Given the description of an element on the screen output the (x, y) to click on. 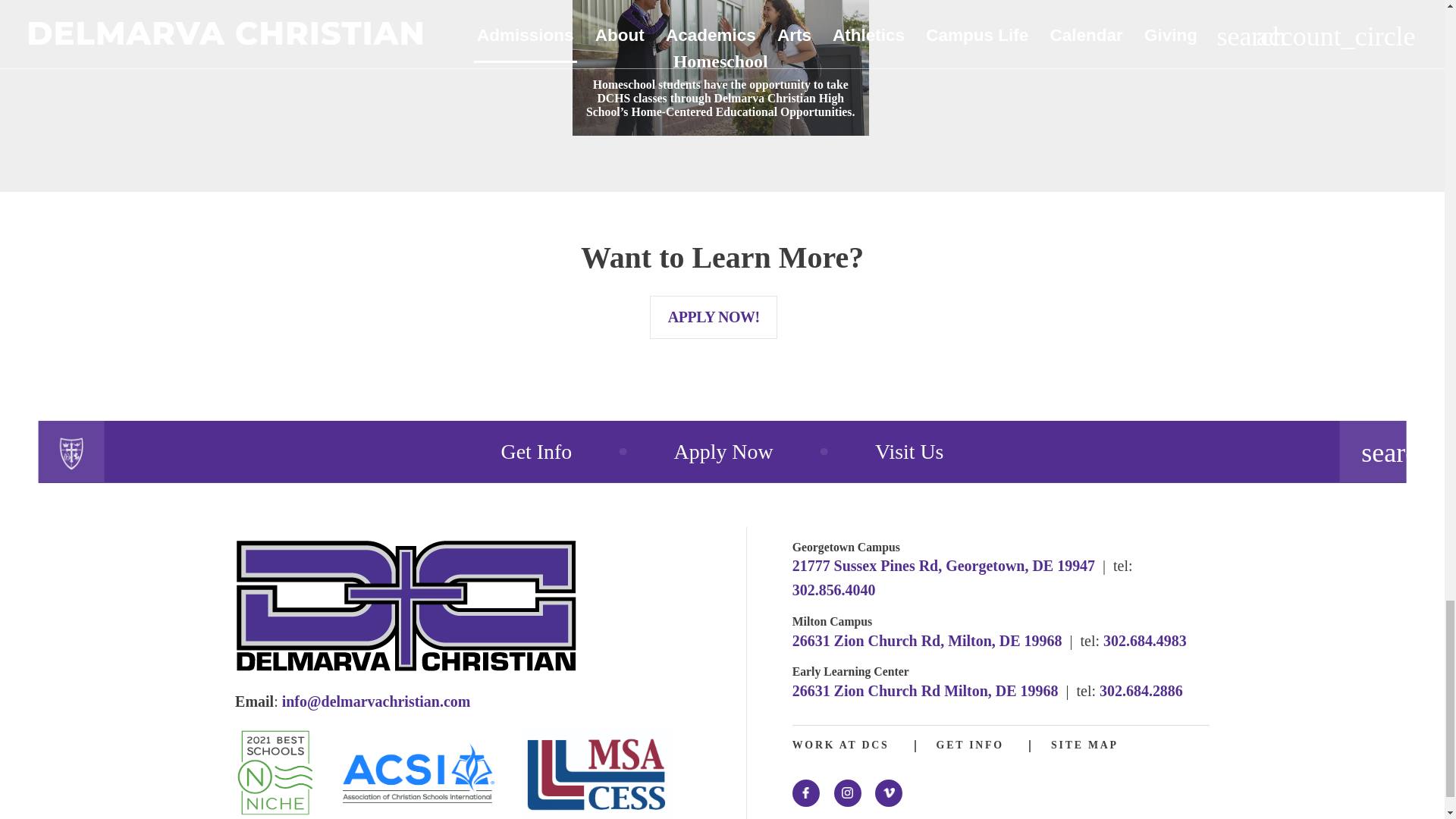
Search (1372, 451)
